Given the description of an element on the screen output the (x, y) to click on. 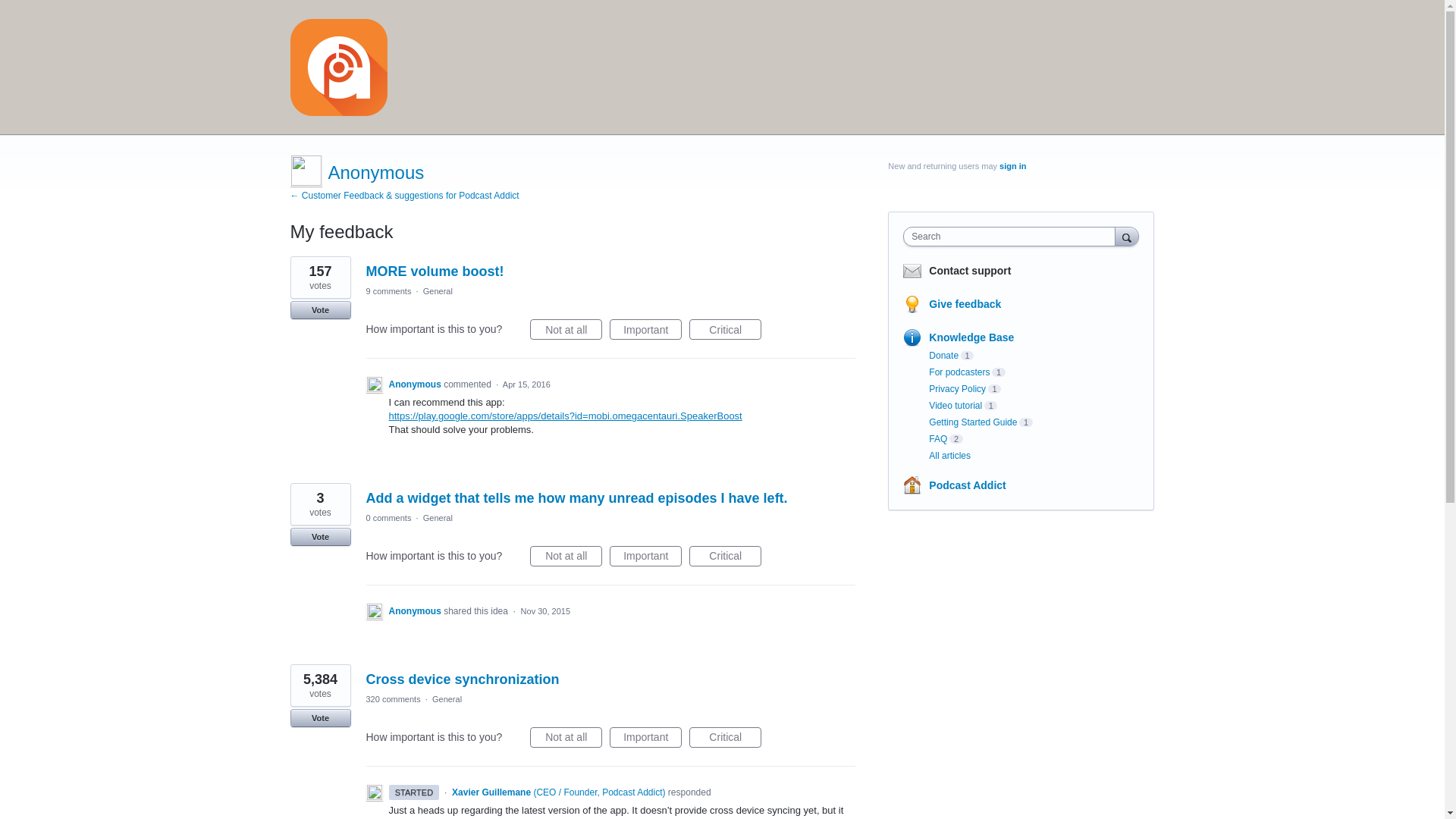
Anonymous (375, 172)
9 comments (387, 290)
Not at all (565, 329)
Vote (319, 310)
Anonymous (416, 384)
MORE volume boost! (434, 271)
Comments for MORE volume boost! (387, 290)
General (437, 290)
Critical (724, 329)
Important (645, 329)
